Given the description of an element on the screen output the (x, y) to click on. 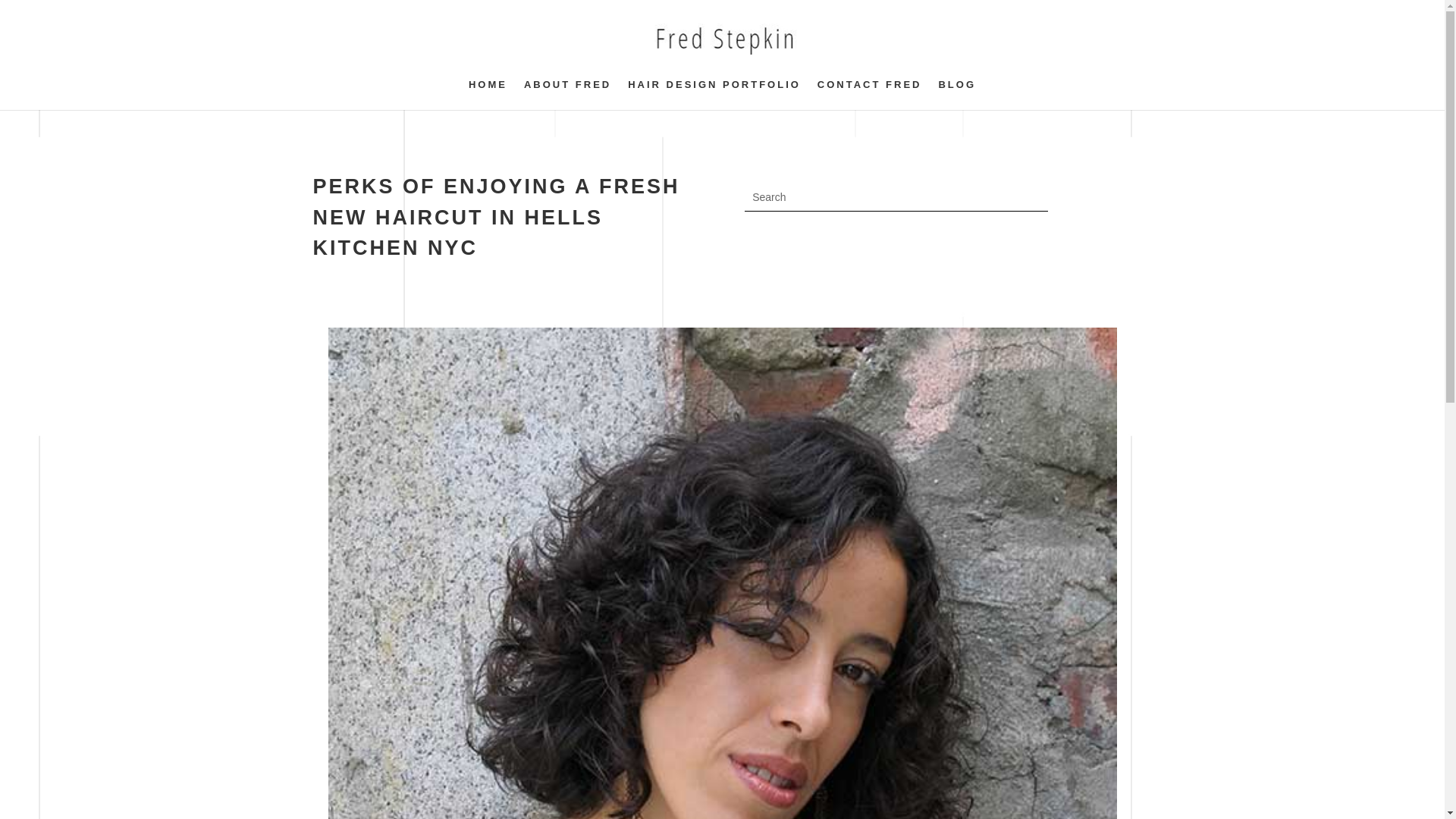
BLOG (956, 94)
ABOUT FRED (567, 94)
HAIR DESIGN PORTFOLIO (713, 94)
Search (24, 13)
CONTACT FRED (868, 94)
HOME (487, 94)
